Given the description of an element on the screen output the (x, y) to click on. 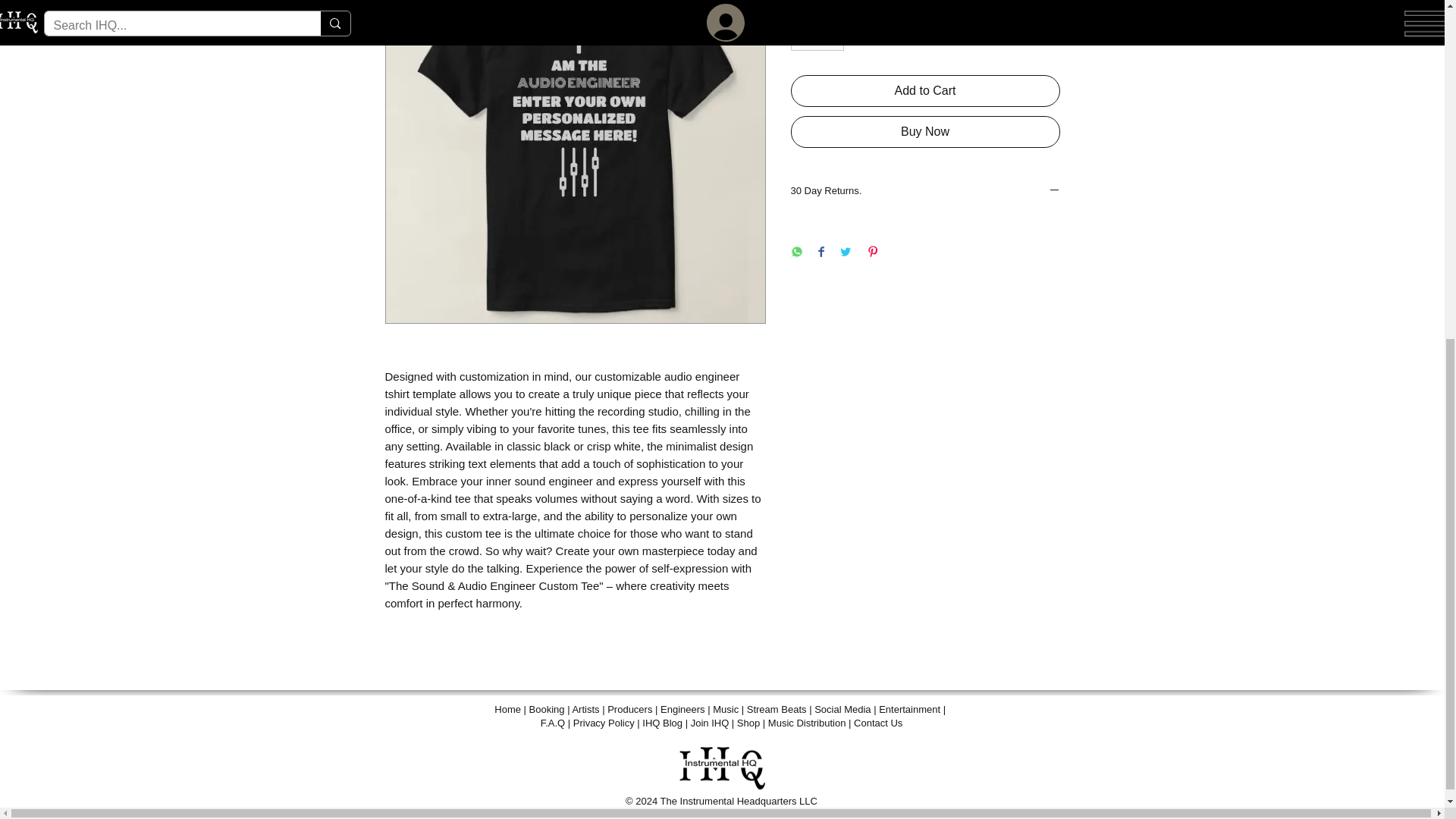
Privacy Policy (603, 722)
Booking (546, 708)
IHQ Blog (662, 722)
Home (508, 708)
Social Media (841, 708)
Producers (629, 708)
Music (725, 708)
Add to Cart (924, 91)
30 Day Returns. (924, 191)
Artists (585, 708)
